Given the description of an element on the screen output the (x, y) to click on. 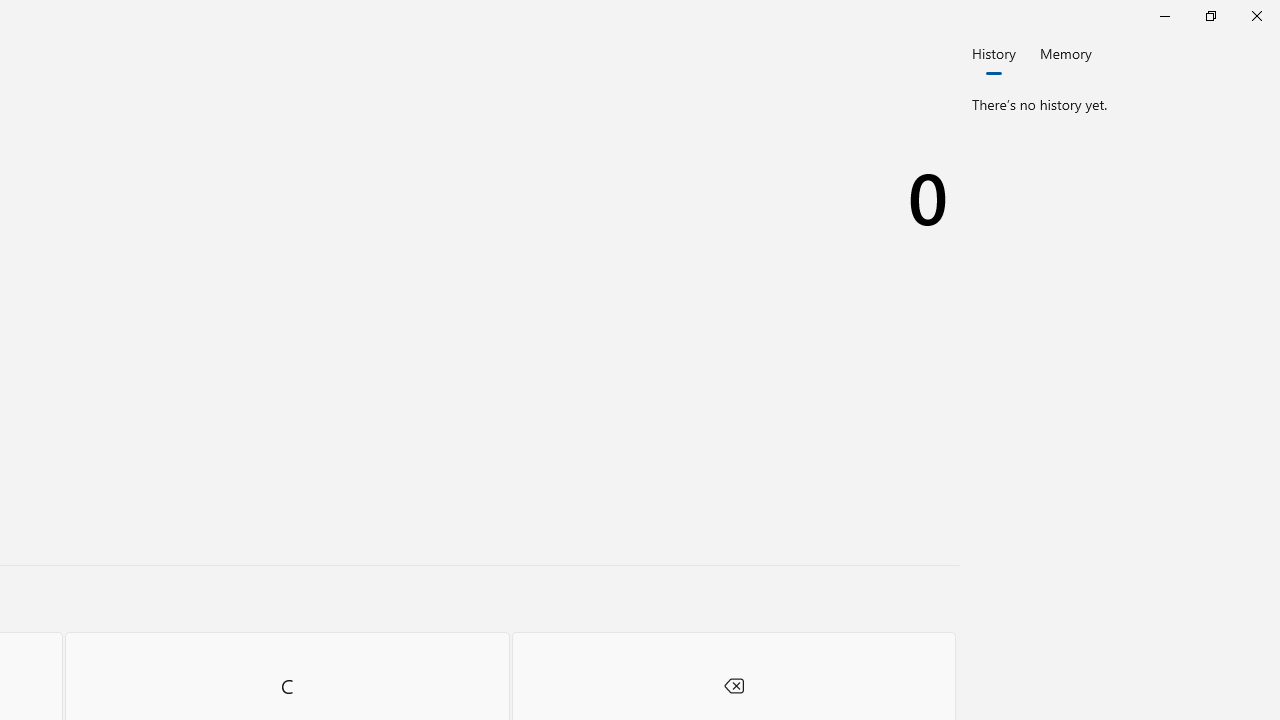
Restore Calculator (1210, 15)
Minimize Calculator (1164, 15)
Close Calculator (1256, 15)
